Given the description of an element on the screen output the (x, y) to click on. 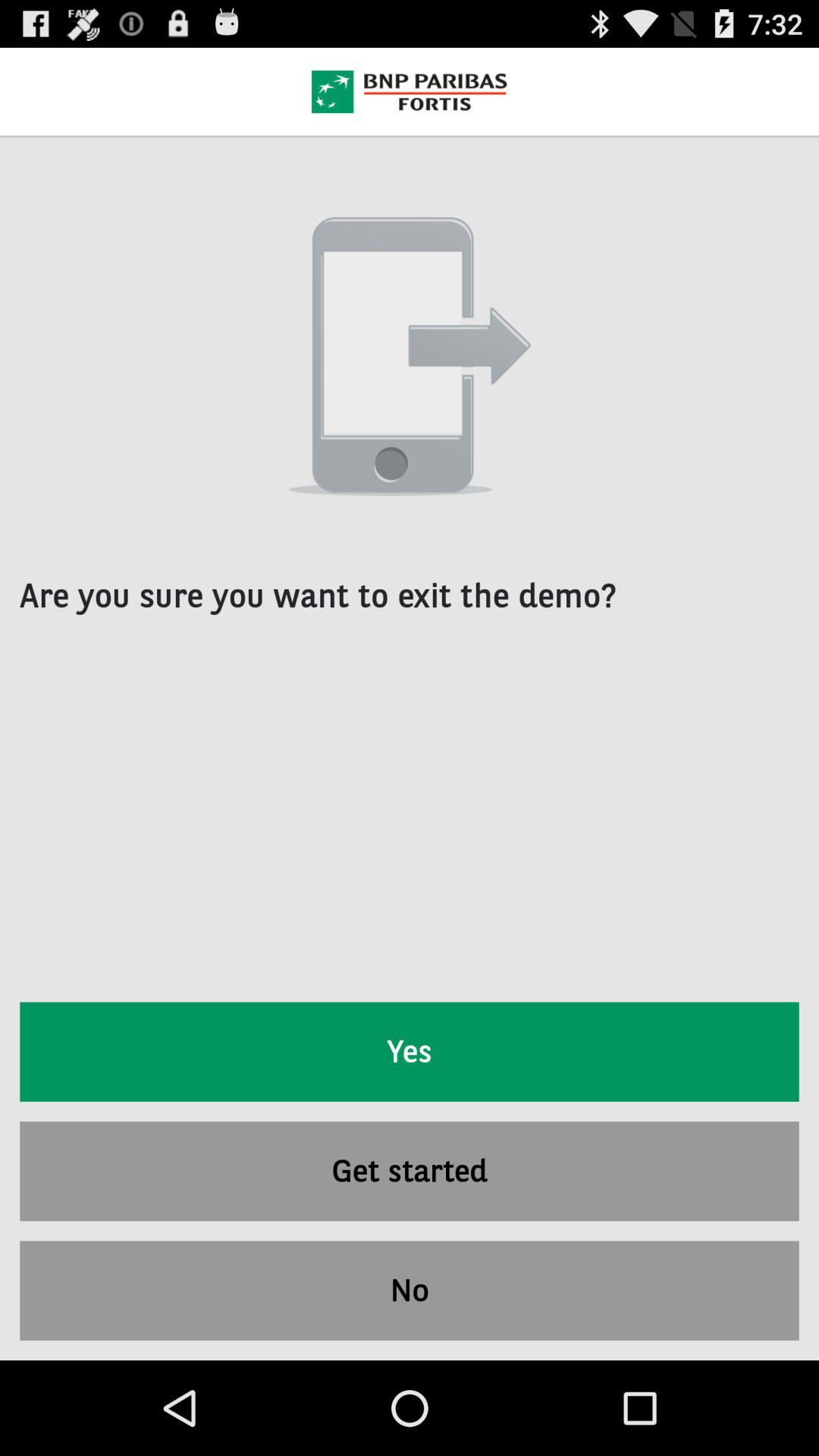
tap the item above no (409, 1171)
